Given the description of an element on the screen output the (x, y) to click on. 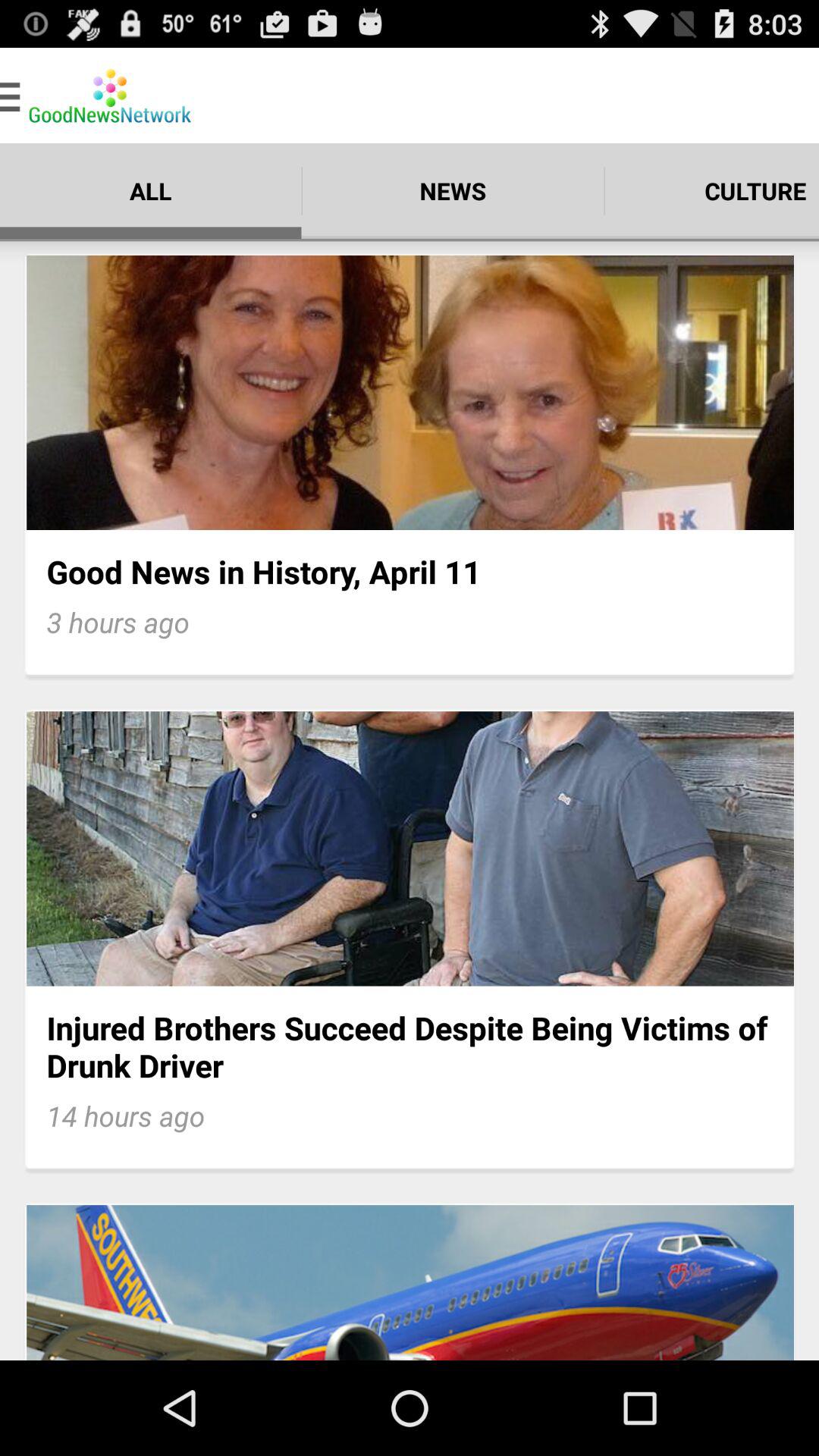
click on culture (712, 190)
go to third image (409, 1282)
select 2nd image which is below 3 hours ago on the page (409, 849)
click on the image which is above good news in history april 11 (409, 392)
